Given the description of an element on the screen output the (x, y) to click on. 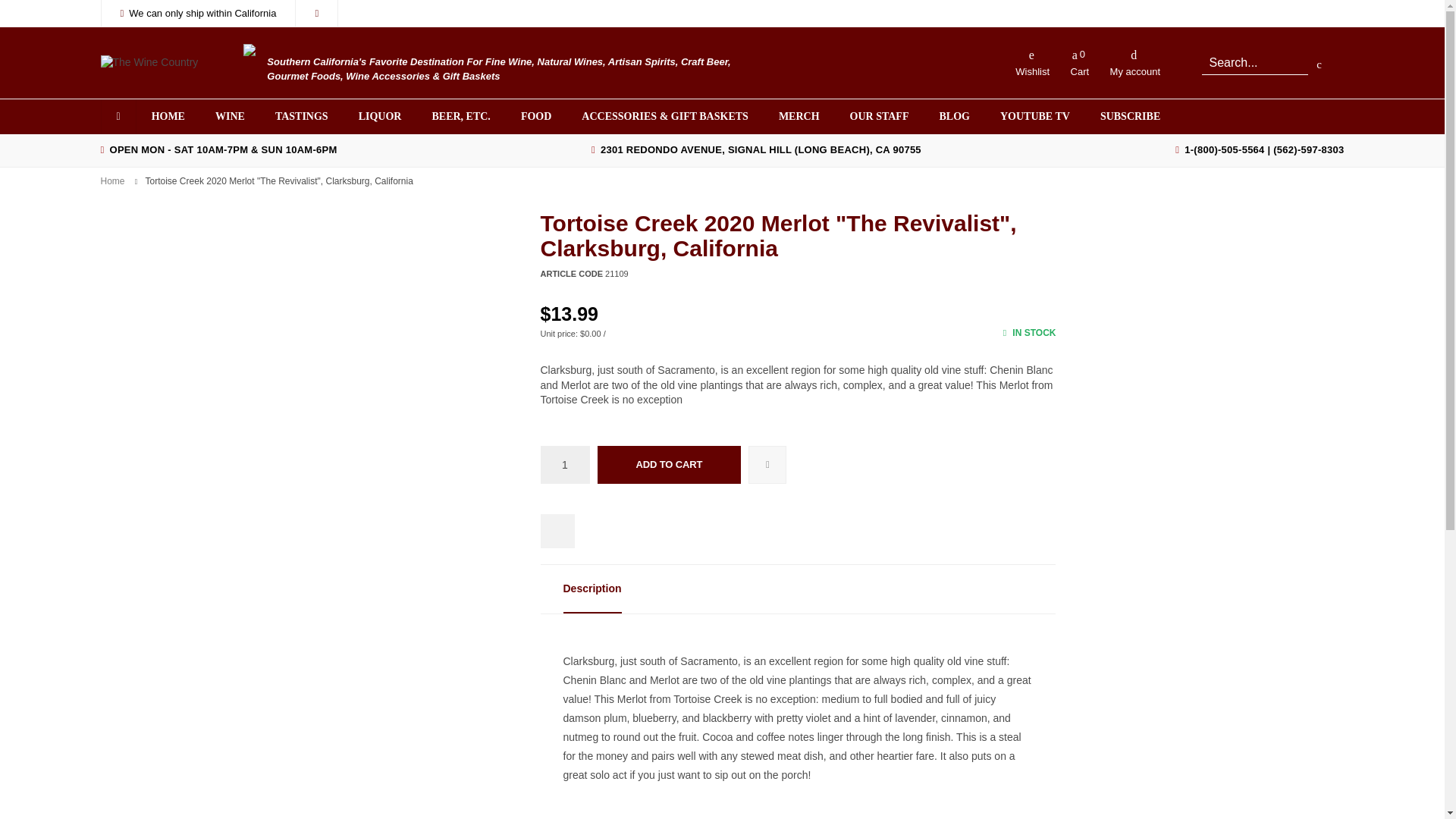
Search (1254, 62)
My account (1133, 62)
Our Staff (879, 116)
Liquor  (379, 116)
1 (564, 464)
Wine (230, 116)
Food  (535, 116)
Cart (1079, 62)
Beer, etc. (460, 116)
Wish List (1031, 62)
